Given the description of an element on the screen output the (x, y) to click on. 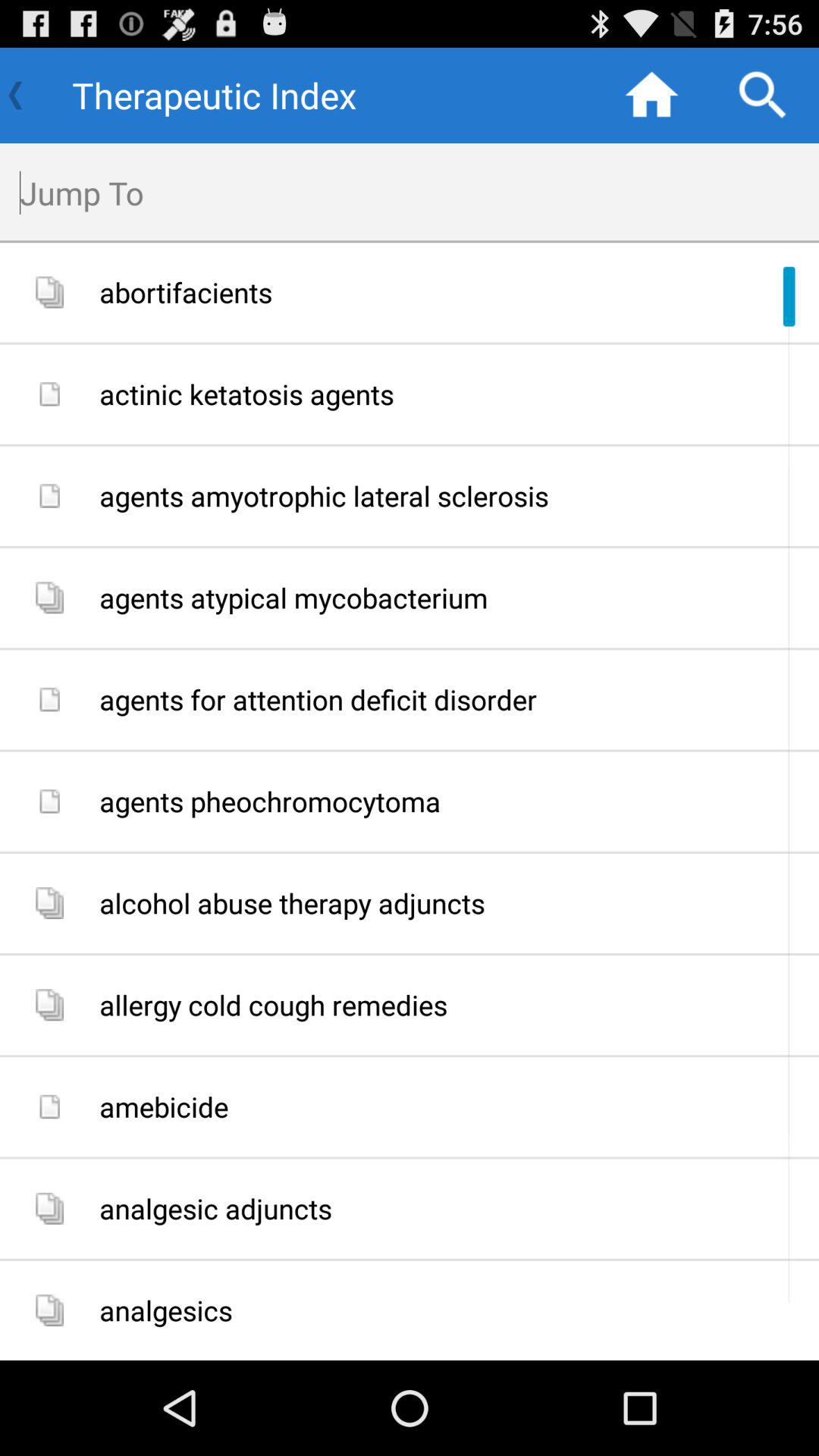
tap icon below the agents amyotrophic lateral item (453, 597)
